Given the description of an element on the screen output the (x, y) to click on. 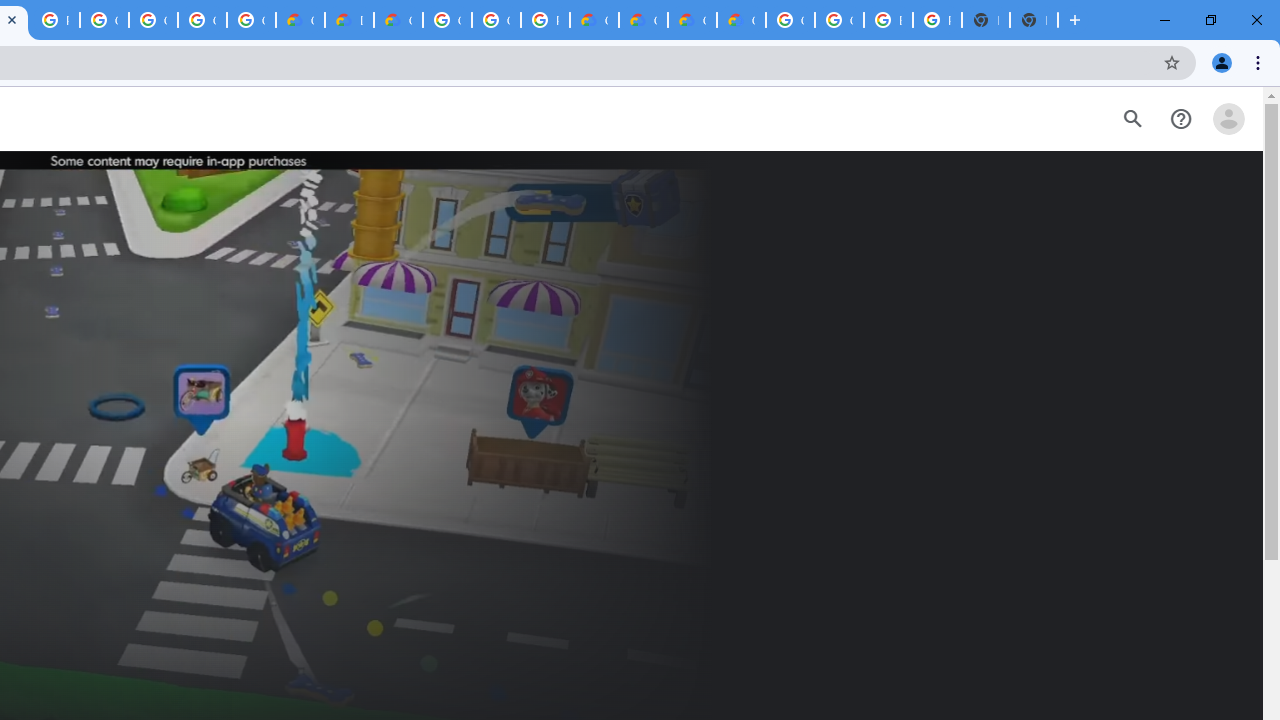
Google Cloud Platform (496, 20)
Help Center (1180, 119)
Google Cloud Pricing Calculator (692, 20)
Google Cloud Pricing Calculator (643, 20)
Gemini for Business and Developers | Google Cloud (398, 20)
Search (1132, 119)
Customer Care | Google Cloud (594, 20)
